Given the description of an element on the screen output the (x, y) to click on. 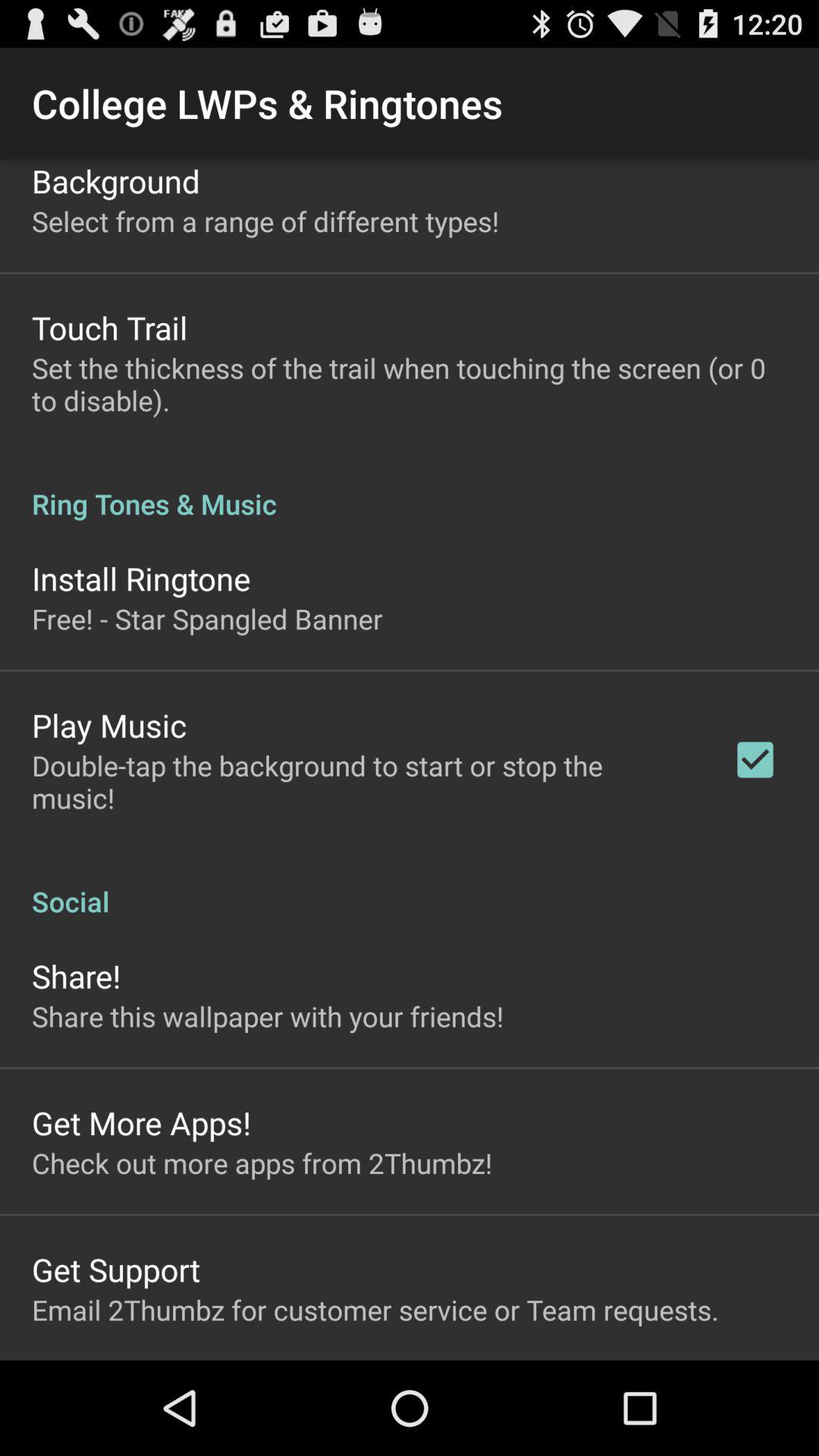
choose item above the share! (409, 885)
